Given the description of an element on the screen output the (x, y) to click on. 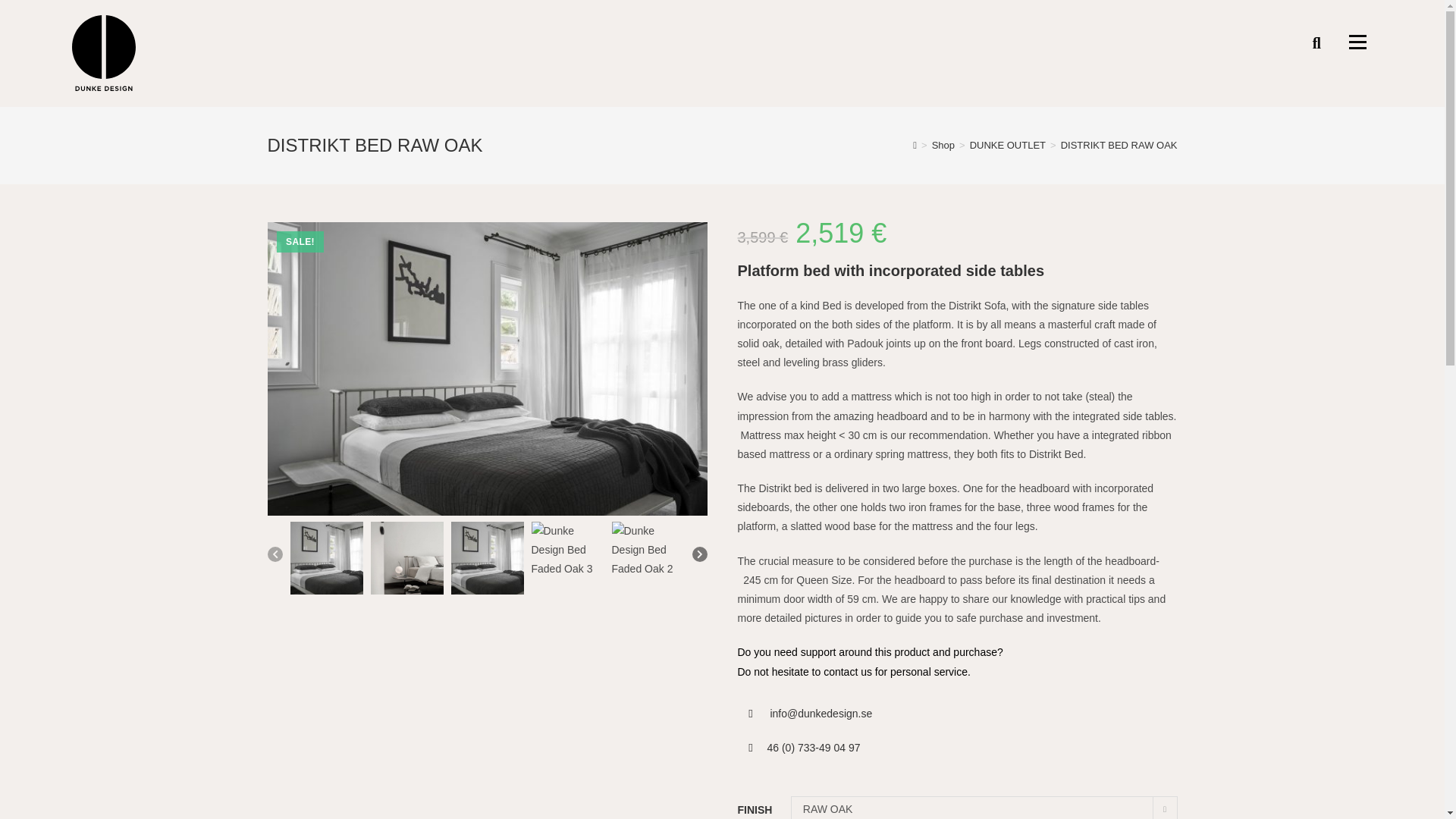
Shop (943, 144)
Dunke Design Bed Faded Oak (486, 368)
Dunke Design Distrikt Bed Raw Oak (405, 557)
Dunke Design Bed Faded Oak 2 (647, 557)
Dunke Design Bed Faded Oak 3 (567, 557)
DUNKE OUTLET (1007, 144)
Dunke Design Bed Faded Oak (325, 557)
Dunke Design Bed Faded Oak (485, 557)
DISTRIKT BED RAW OAK (1119, 144)
